Given the description of an element on the screen output the (x, y) to click on. 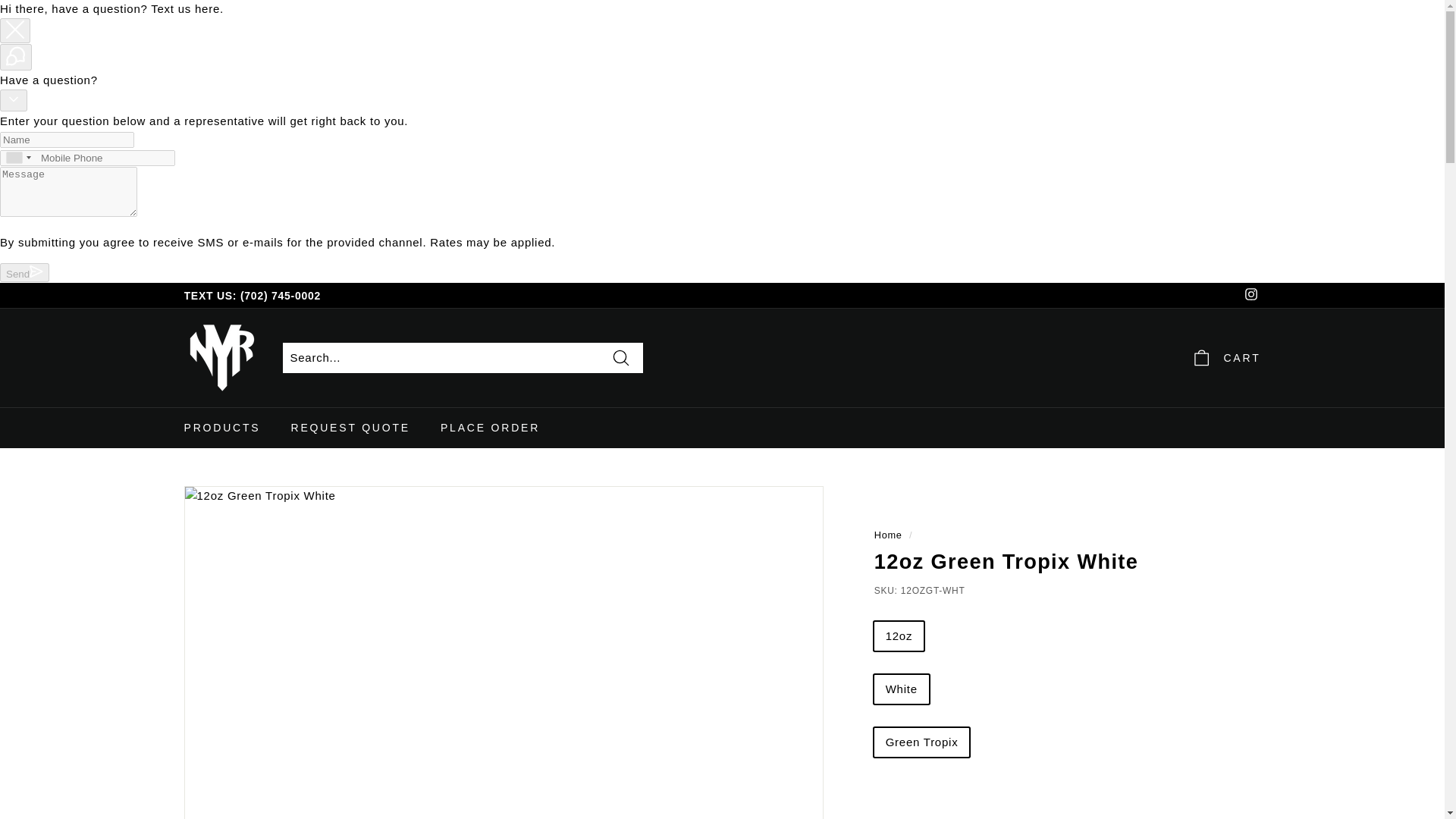
Noyoro Wholesale on Instagram (1250, 295)
Instagram (1250, 295)
PRODUCTS (221, 427)
Form 6 (1067, 801)
Back to the frontpage (888, 534)
